Given the description of an element on the screen output the (x, y) to click on. 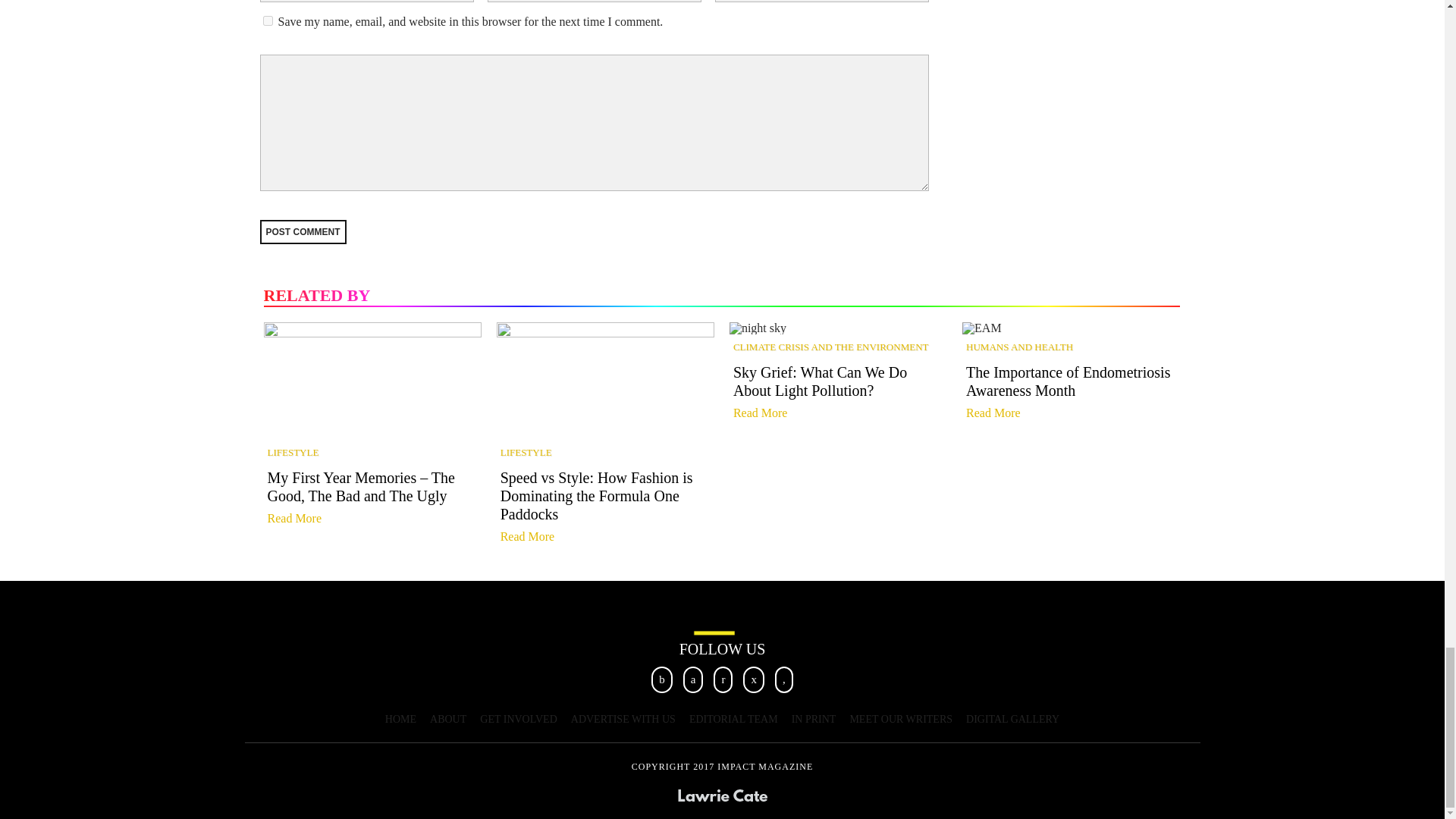
Post comment (302, 232)
yes (267, 20)
